Given the description of an element on the screen output the (x, y) to click on. 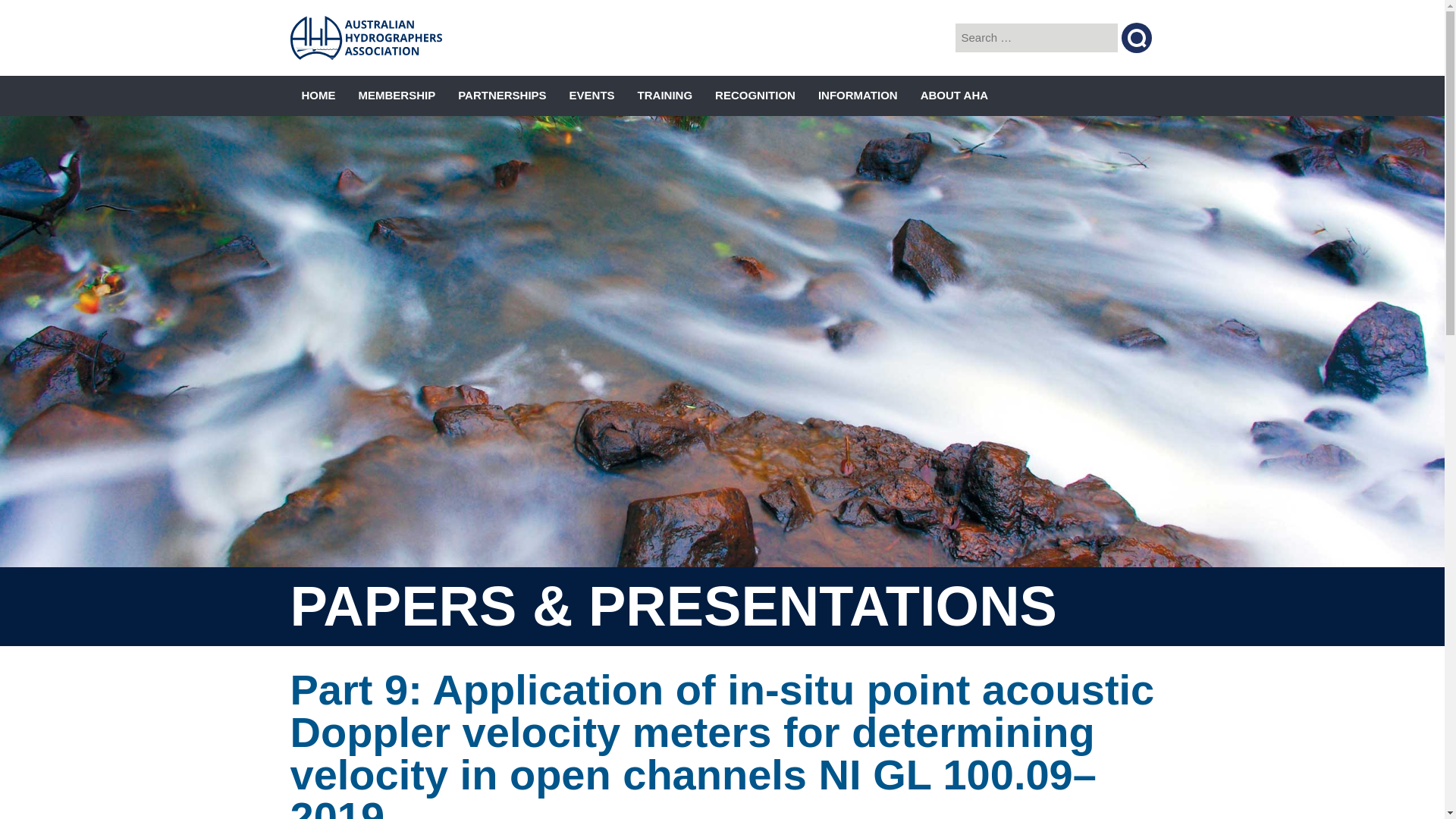
Search (1136, 37)
HOME (317, 96)
Search (1136, 37)
PARTNERSHIPS (501, 96)
RECOGNITION (754, 96)
TRAINING (665, 96)
EVENTS (591, 96)
MEMBERSHIP (396, 96)
Search (1136, 37)
